Given the description of an element on the screen output the (x, y) to click on. 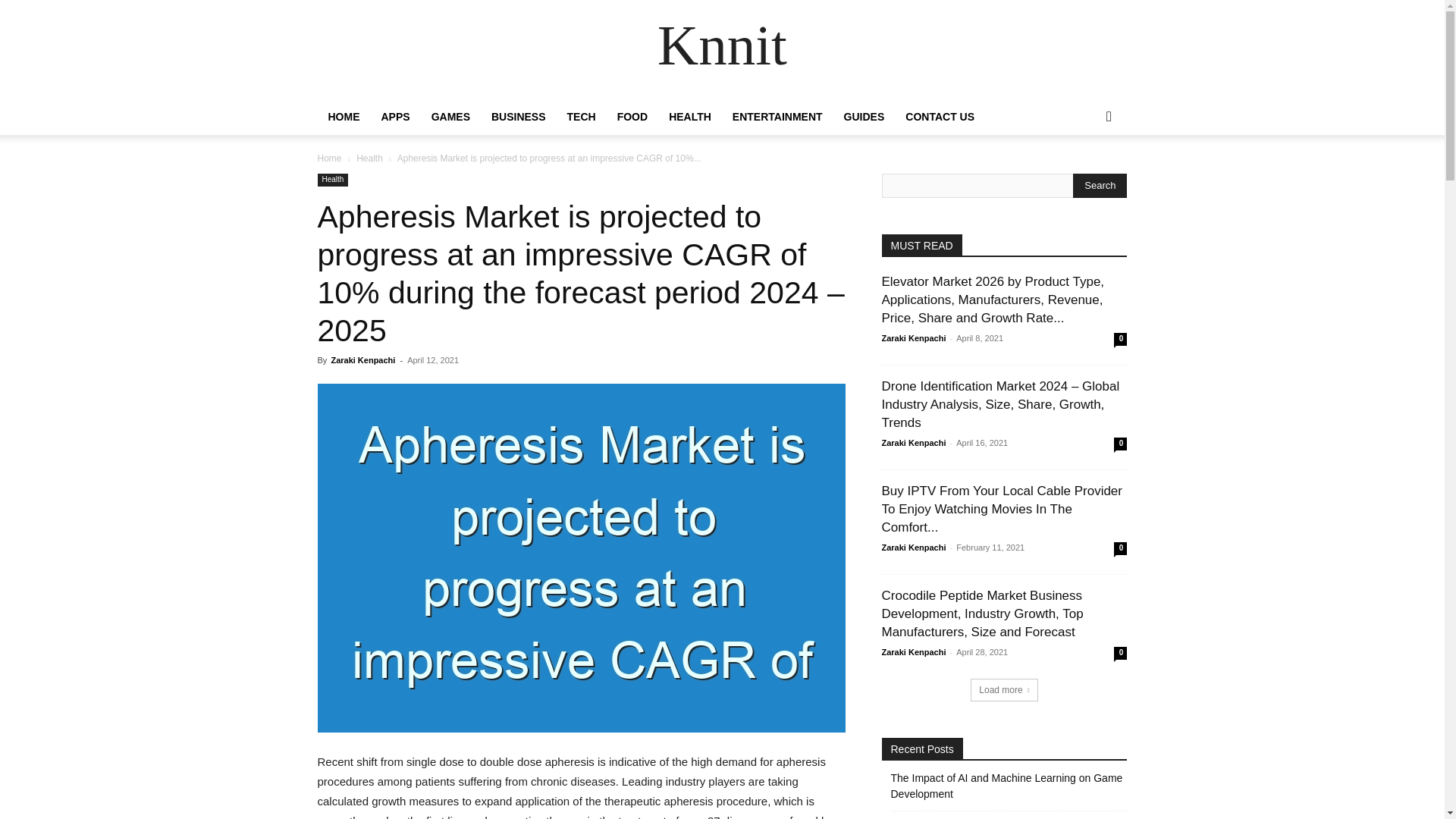
Knnit (722, 50)
BUSINESS (518, 116)
GAMES (450, 116)
HEALTH (690, 116)
CONTACT US (940, 116)
APPS (394, 116)
Zaraki Kenpachi (362, 359)
Search (1085, 177)
FOOD (632, 116)
GUIDES (863, 116)
